Given the description of an element on the screen output the (x, y) to click on. 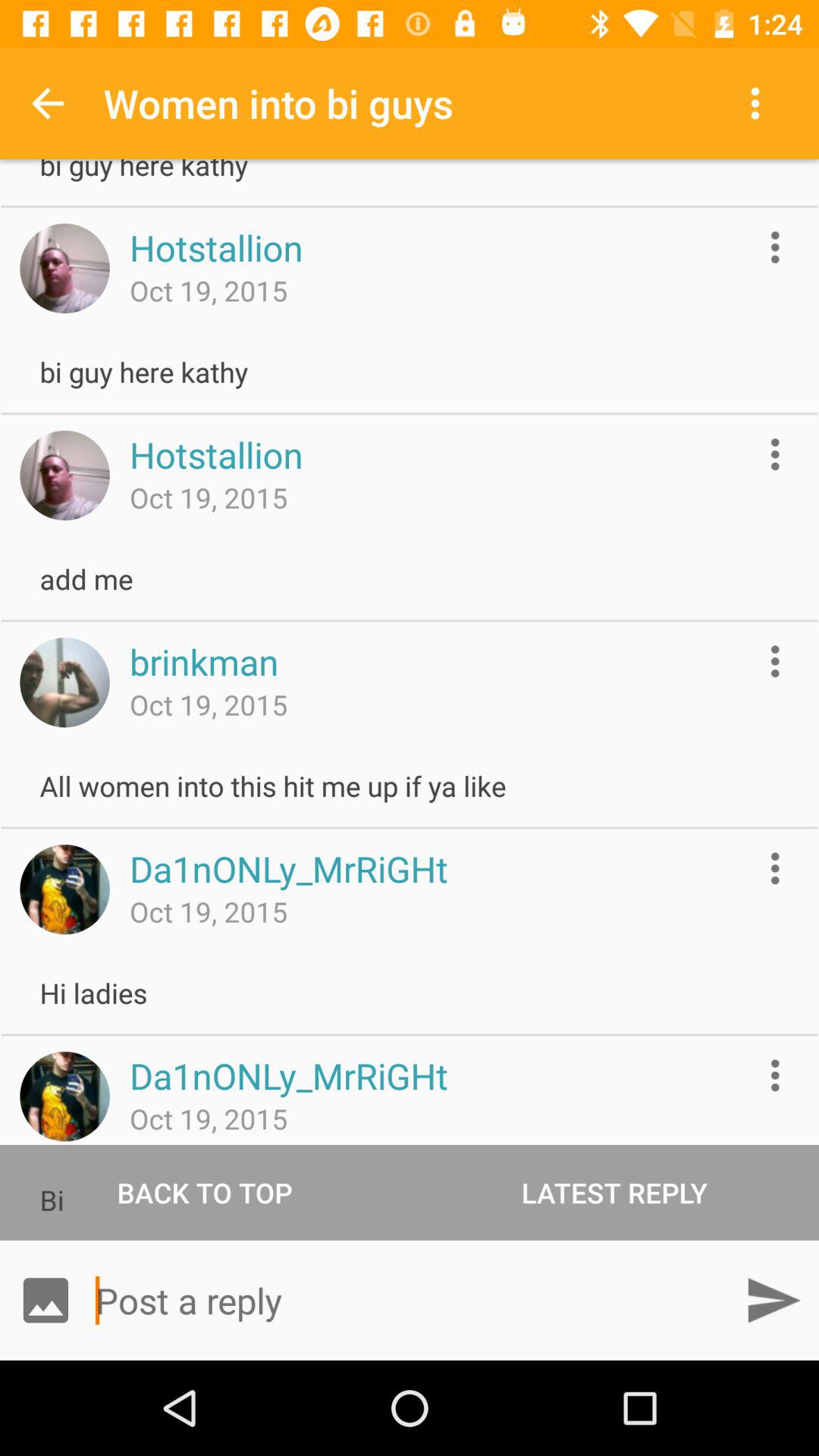
open profile (64, 268)
